Given the description of an element on the screen output the (x, y) to click on. 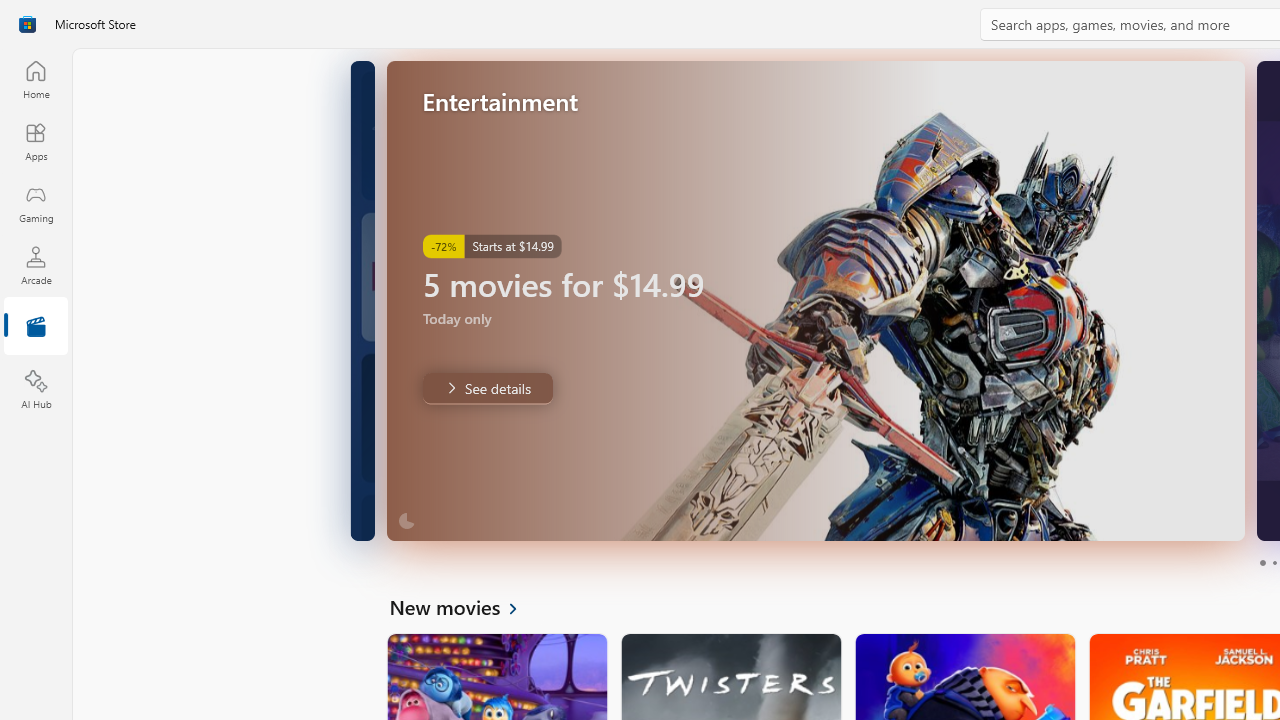
Page 2 (1274, 562)
Entertainment (35, 327)
Home (35, 79)
AI Hub (35, 390)
Gaming (35, 203)
AutomationID: Image (815, 300)
Page 1 (1261, 562)
Arcade (35, 265)
See all  New movies (464, 606)
Class: Image (27, 24)
Apps (35, 141)
